Given the description of an element on the screen output the (x, y) to click on. 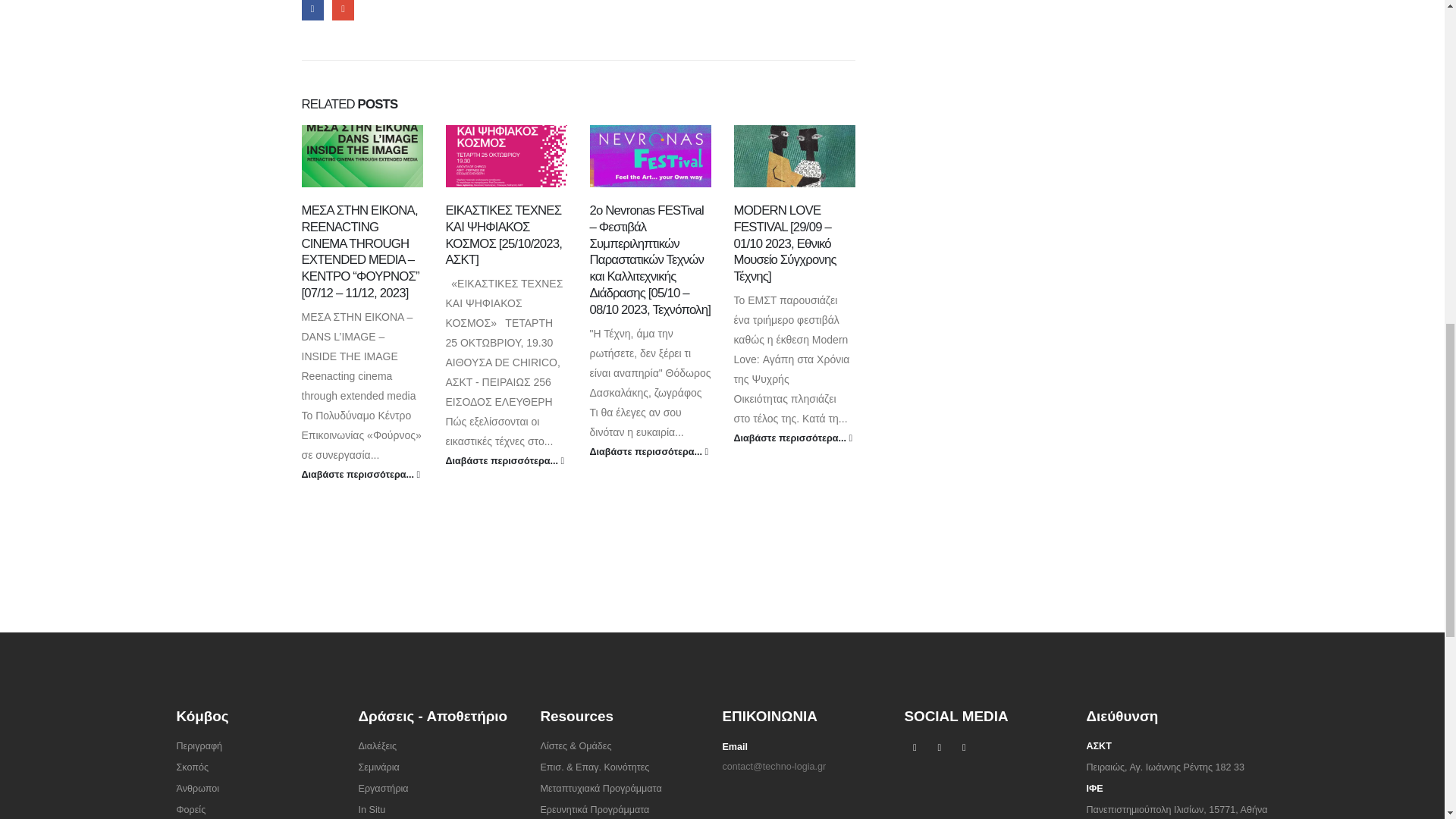
Facebook (914, 747)
Youtube (939, 747)
